Given the description of an element on the screen output the (x, y) to click on. 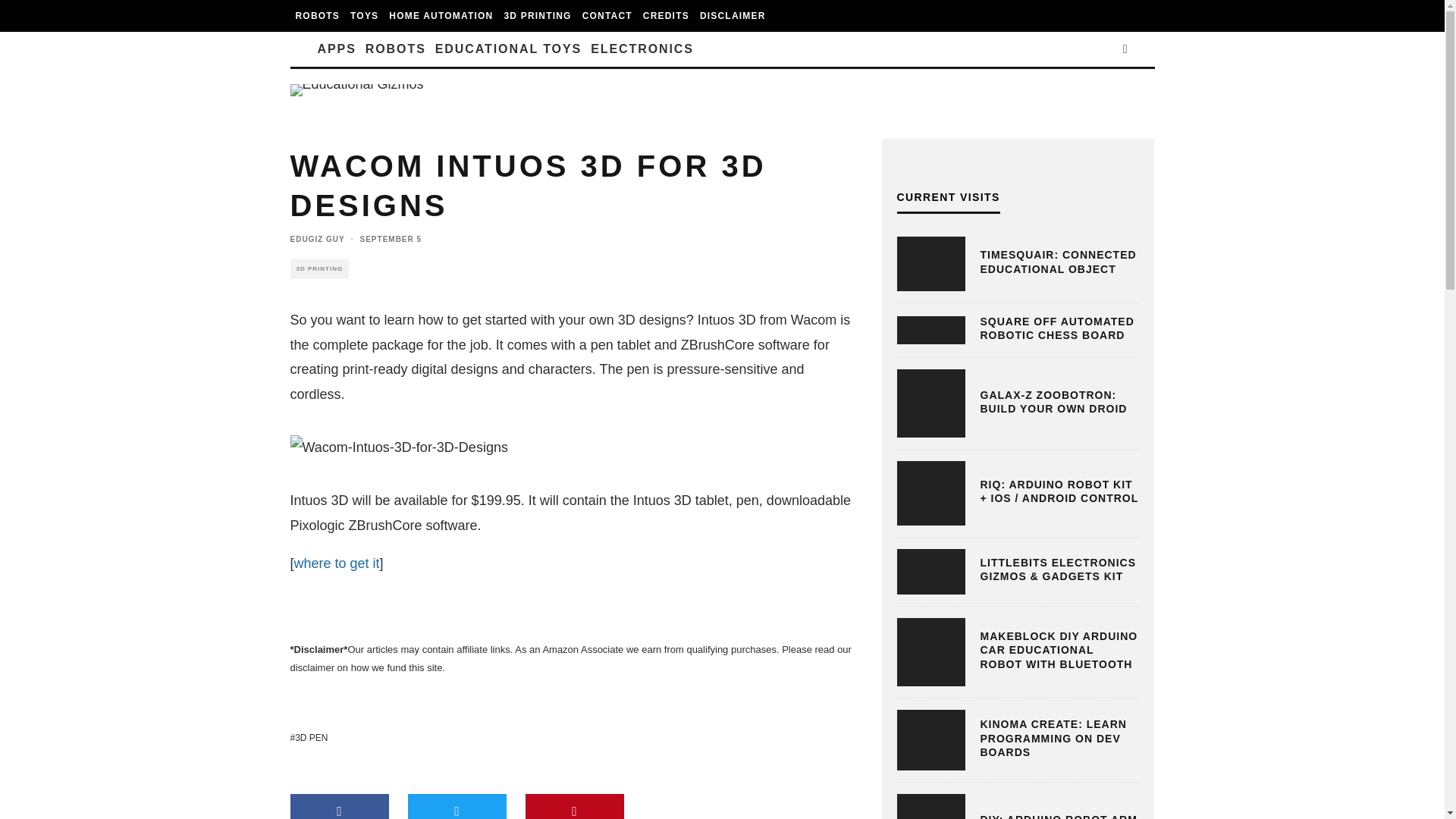
HOME AUTOMATION (440, 15)
3D PRINTING (536, 15)
CONTACT (606, 15)
DISCLAIMER (732, 15)
CREDITS (665, 15)
APPS (336, 48)
ROBOTS (395, 48)
ELECTRONICS (642, 48)
ROBOTS (317, 15)
TOYS (364, 15)
EDUCATIONAL TOYS (508, 48)
